Given the description of an element on the screen output the (x, y) to click on. 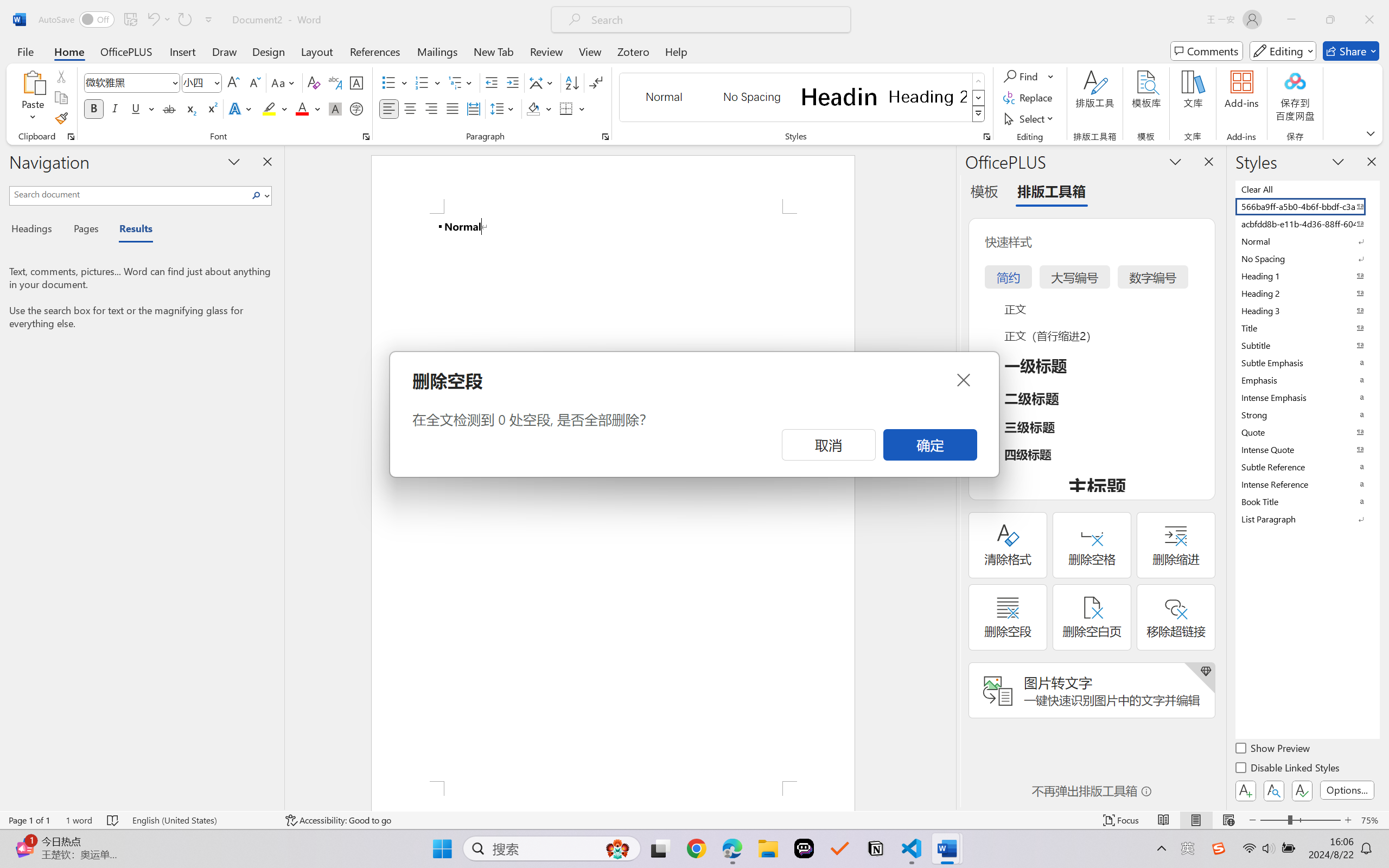
Page Number Page 1 of 1 (29, 819)
Borders (571, 108)
